Given the description of an element on the screen output the (x, y) to click on. 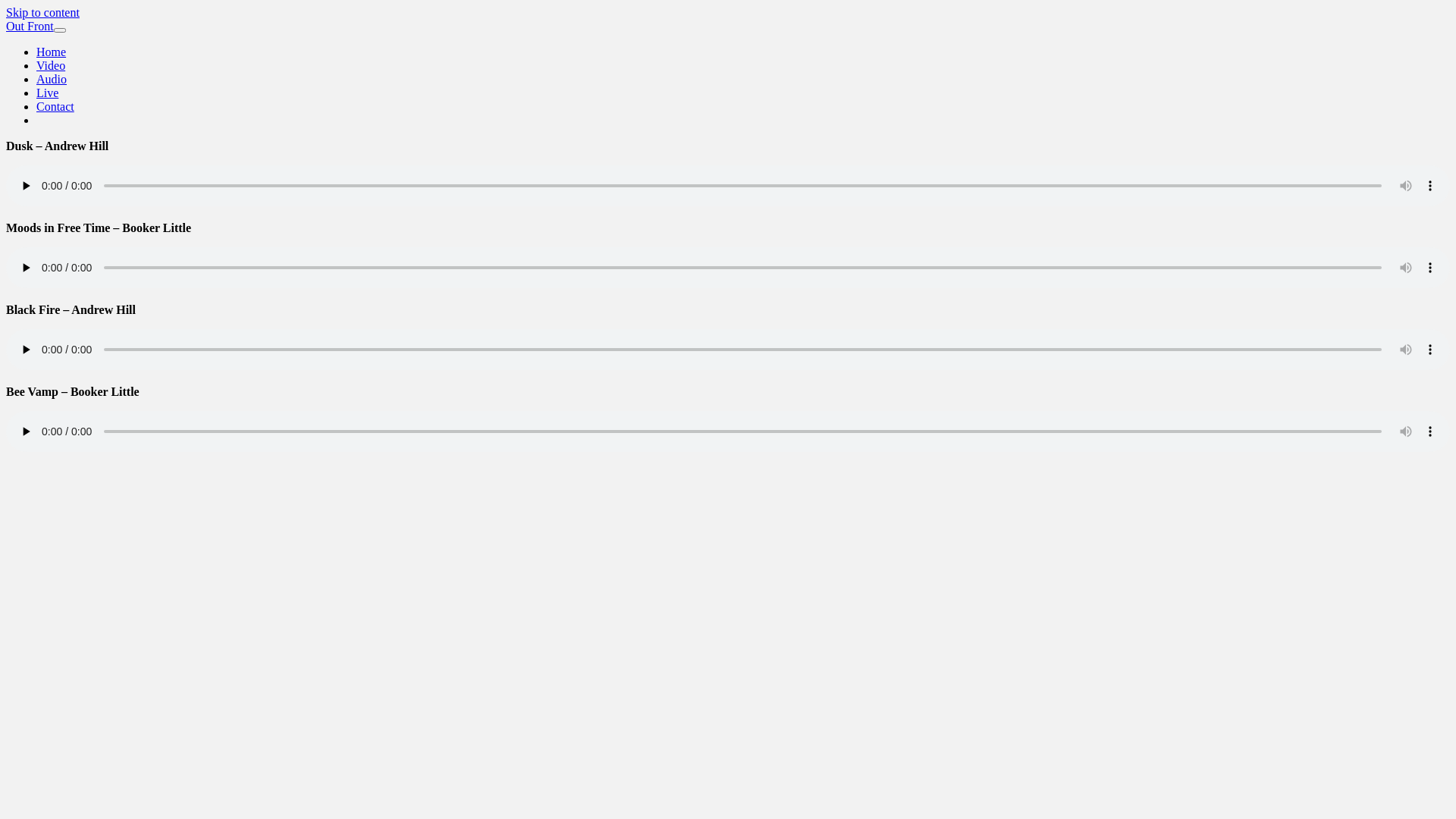
Out Front Element type: text (29, 25)
Video Element type: text (50, 65)
Skip to content Element type: text (42, 12)
Home Element type: text (50, 51)
Audio Element type: text (51, 78)
Live Element type: text (47, 92)
Contact Element type: text (55, 106)
